Given the description of an element on the screen output the (x, y) to click on. 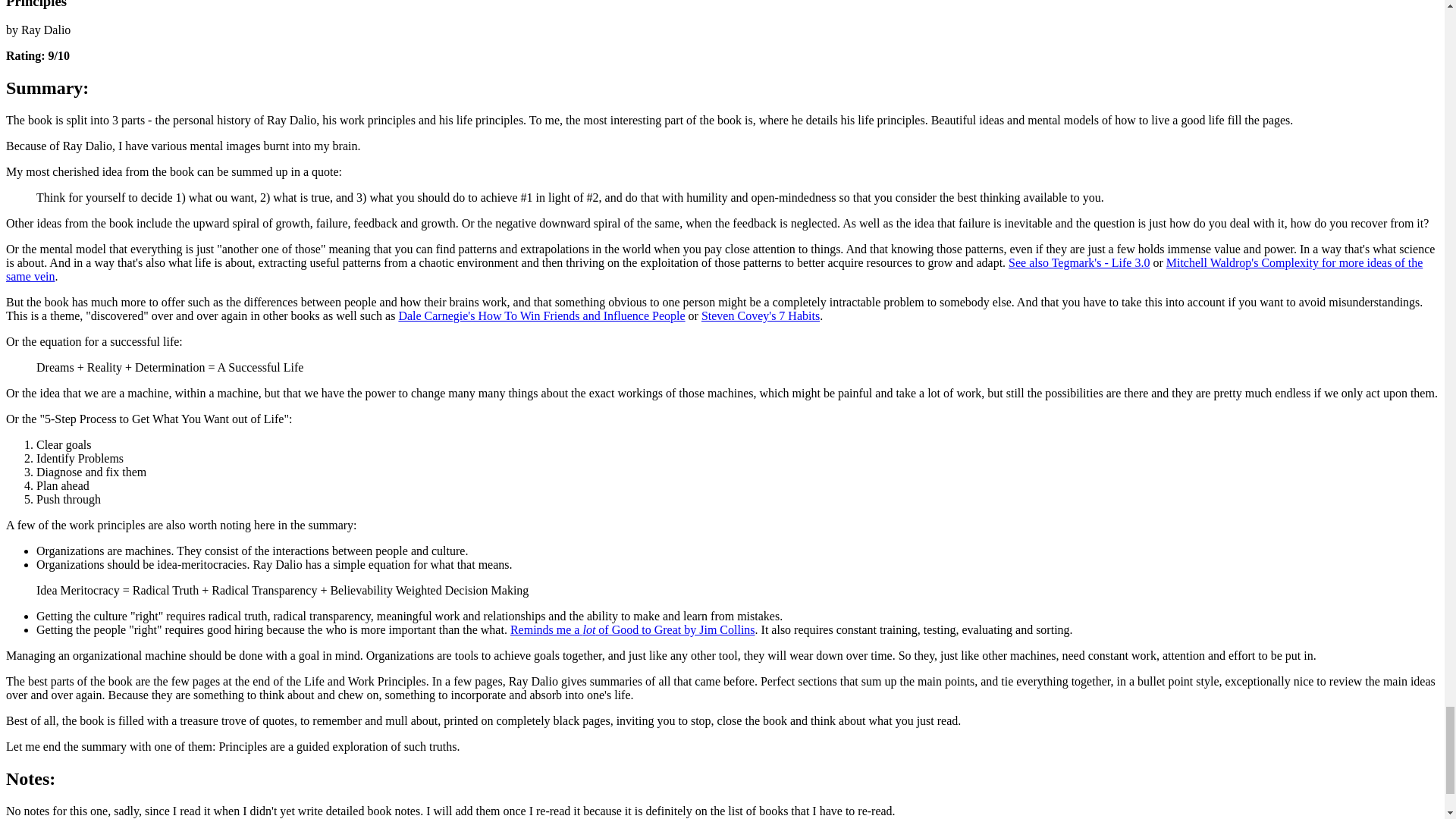
See also Tegmark's - Life 3.0 (1079, 262)
Steven Covey's 7 Habits (760, 315)
Dale Carnegie's How To Win Friends and Influence People (540, 315)
Reminds me a lot of Good to Great by Jim Collins (633, 629)
